Given the description of an element on the screen output the (x, y) to click on. 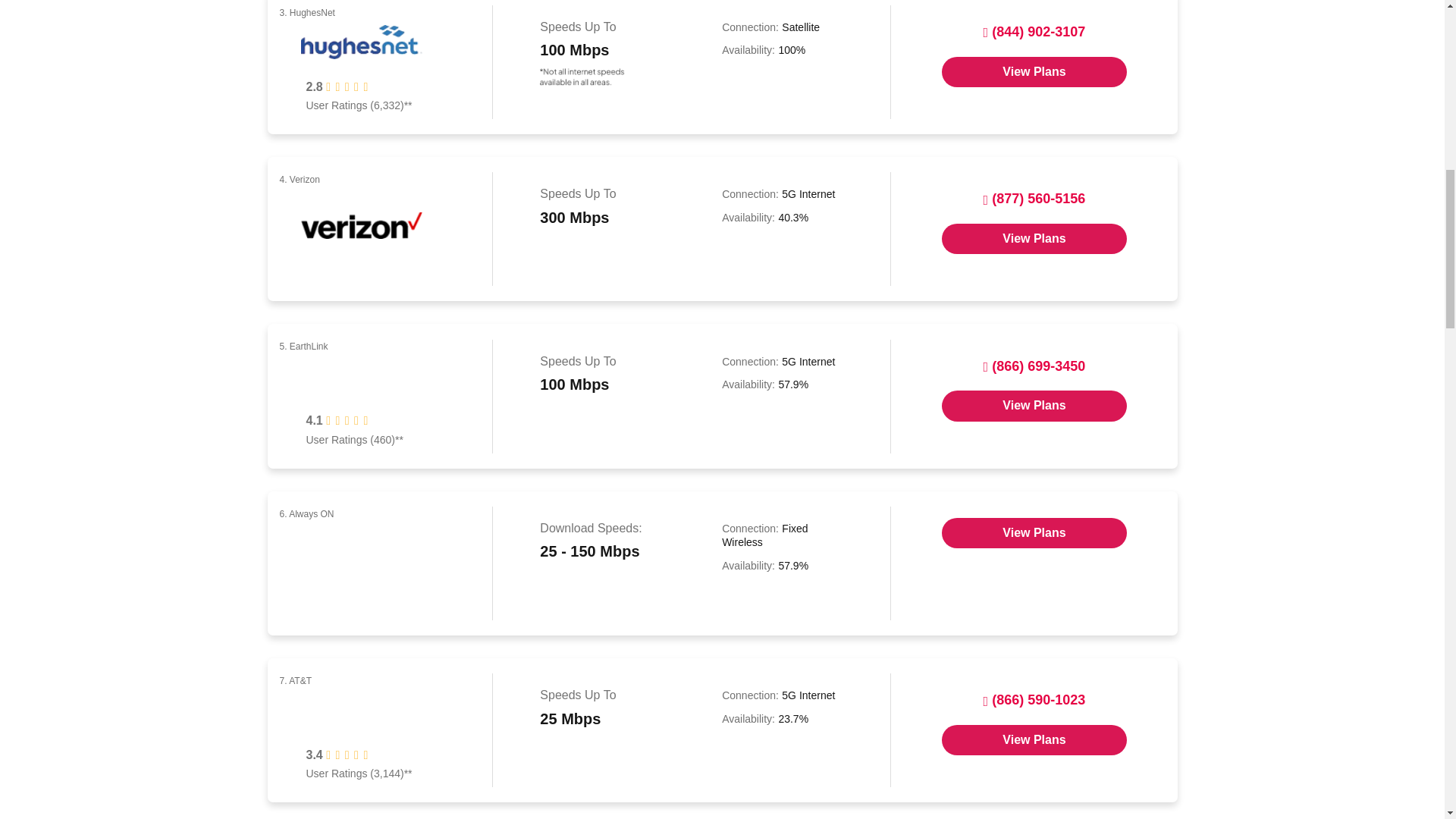
Opens in a new window (1034, 739)
Opens in a new window (1034, 405)
Opens in a new window (1034, 71)
Opens in a new window (1034, 238)
